Given the description of an element on the screen output the (x, y) to click on. 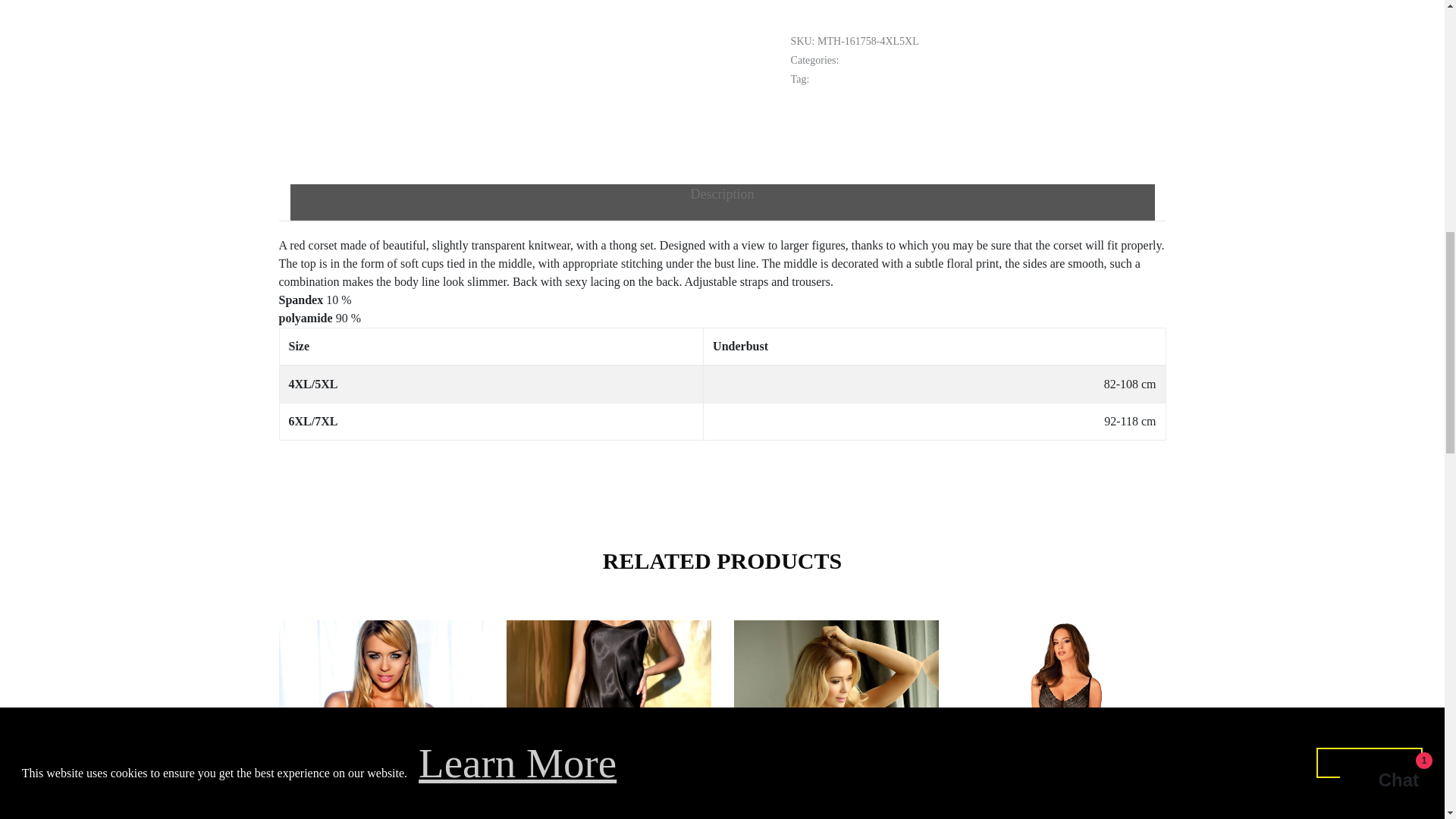
Description (721, 202)
